Given the description of an element on the screen output the (x, y) to click on. 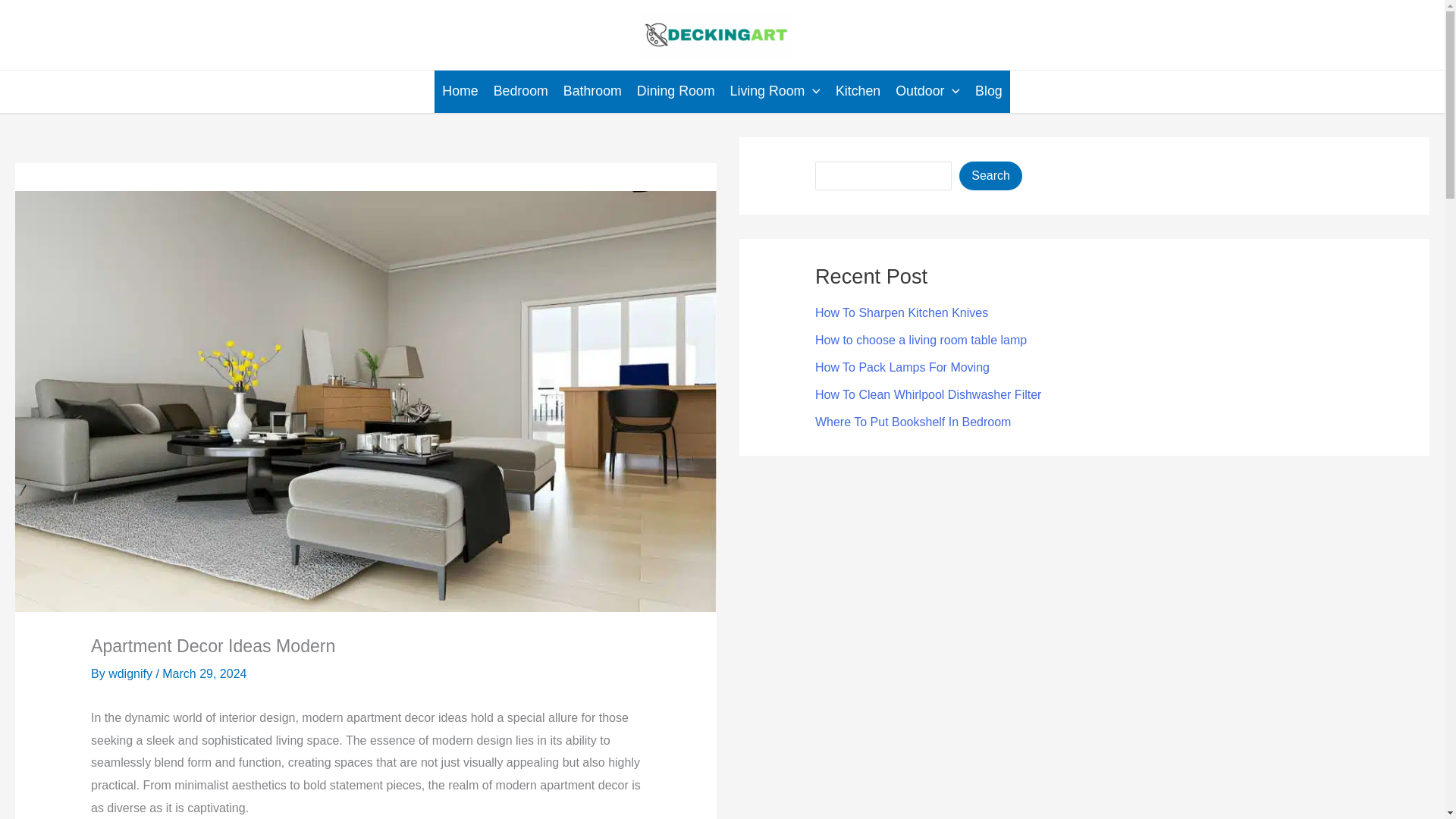
Bathroom (592, 91)
How To Sharpen Kitchen Knives (901, 312)
Dining Room (675, 91)
Living Room (775, 91)
Where To Put Bookshelf In Bedroom (913, 421)
Home (458, 91)
How To Pack Lamps For Moving (902, 367)
Bedroom (521, 91)
How To Clean Whirlpool Dishwasher Filter (928, 394)
Kitchen (858, 91)
View all posts by wdignify (131, 673)
wdignify (131, 673)
Blog (989, 91)
Search (990, 175)
Outdoor (928, 91)
